Given the description of an element on the screen output the (x, y) to click on. 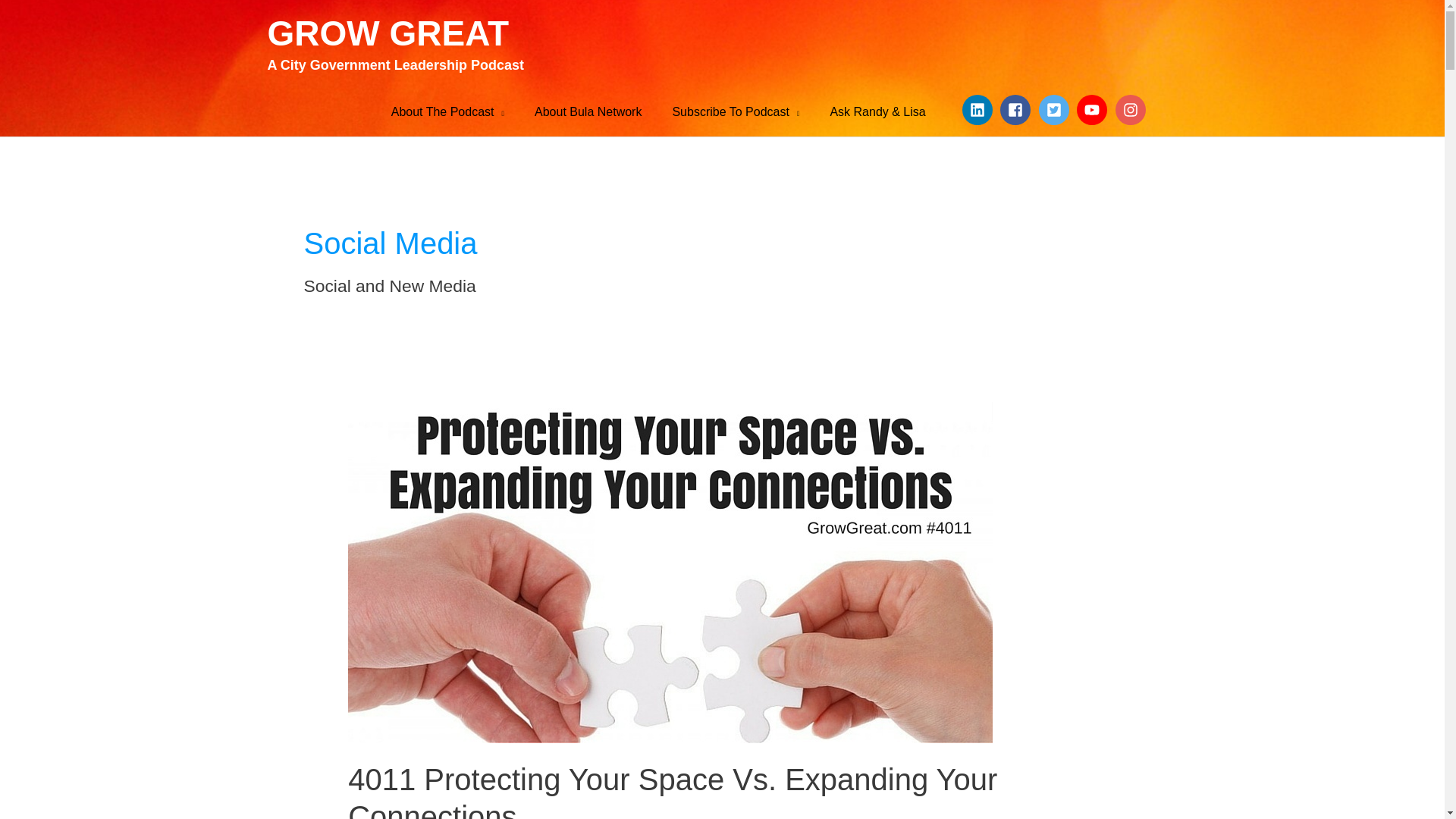
GROW GREAT (387, 33)
Subscribe To Podcast (734, 111)
4011 Protecting Your Space Vs. Expanding Your Connections (672, 790)
About The Podcast (447, 111)
About Bula Network (587, 111)
